Given the description of an element on the screen output the (x, y) to click on. 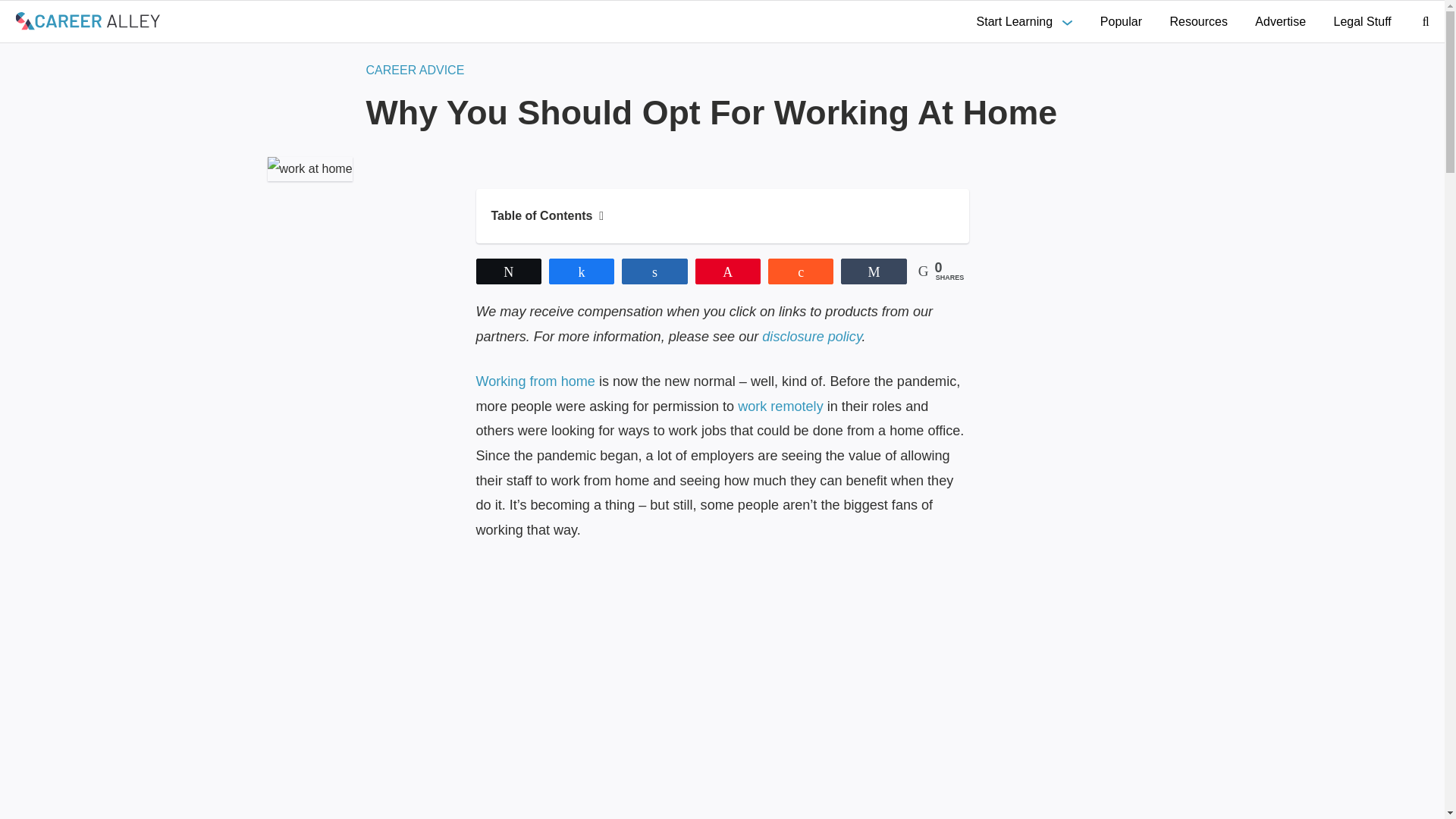
work remotely (781, 406)
Legal Stuff (1362, 21)
Popular (1120, 21)
Working from home (535, 381)
disclosure policy (811, 336)
Start Learning   (1025, 21)
Resources (1198, 21)
CAREER ADVICE (414, 69)
Advertise (1280, 21)
